Given the description of an element on the screen output the (x, y) to click on. 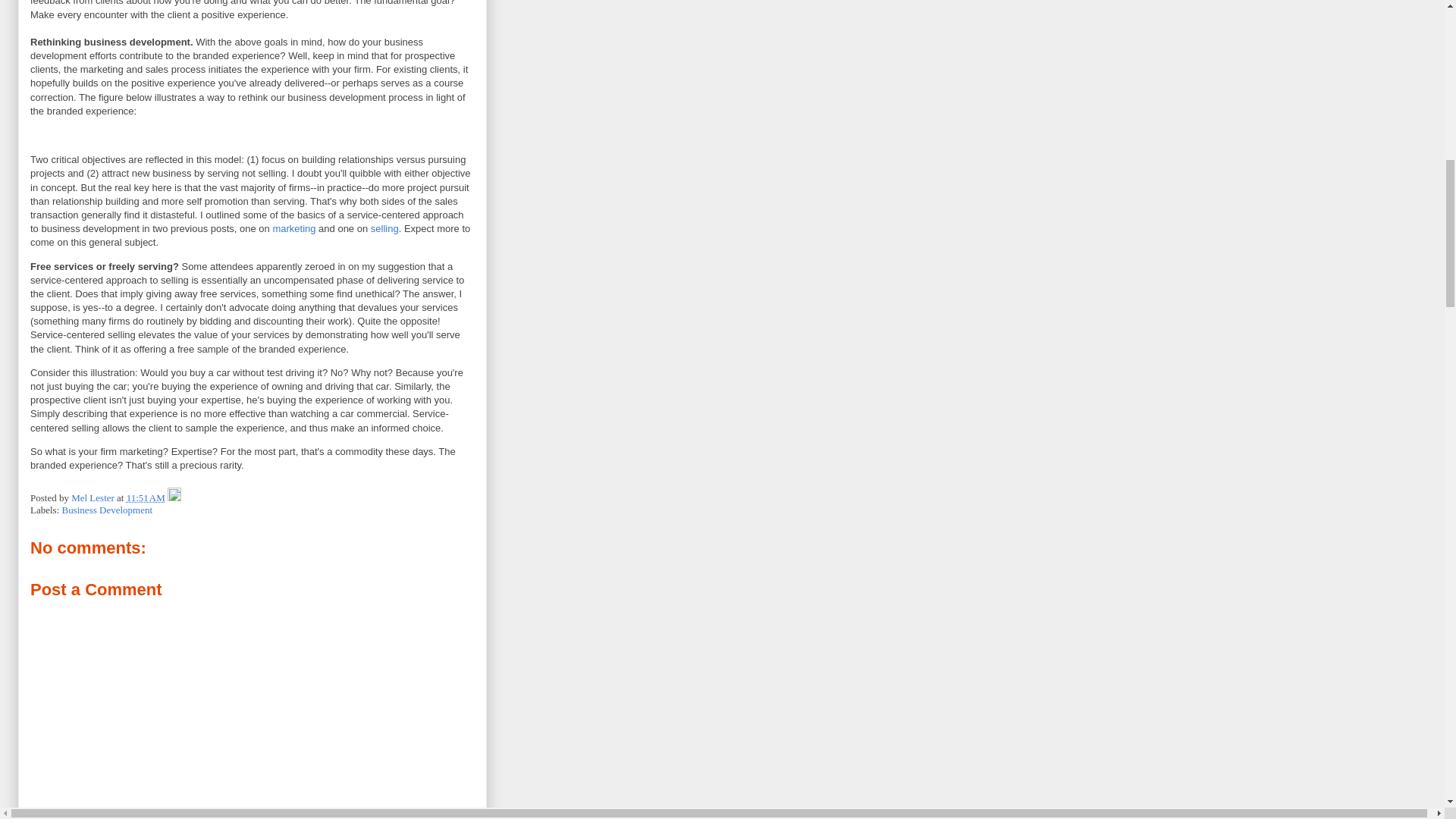
marketing (293, 228)
Mel Lester (93, 497)
Edit Post (173, 497)
Business Development (107, 509)
permanent link (145, 497)
author profile (93, 497)
selling (384, 228)
